Given the description of an element on the screen output the (x, y) to click on. 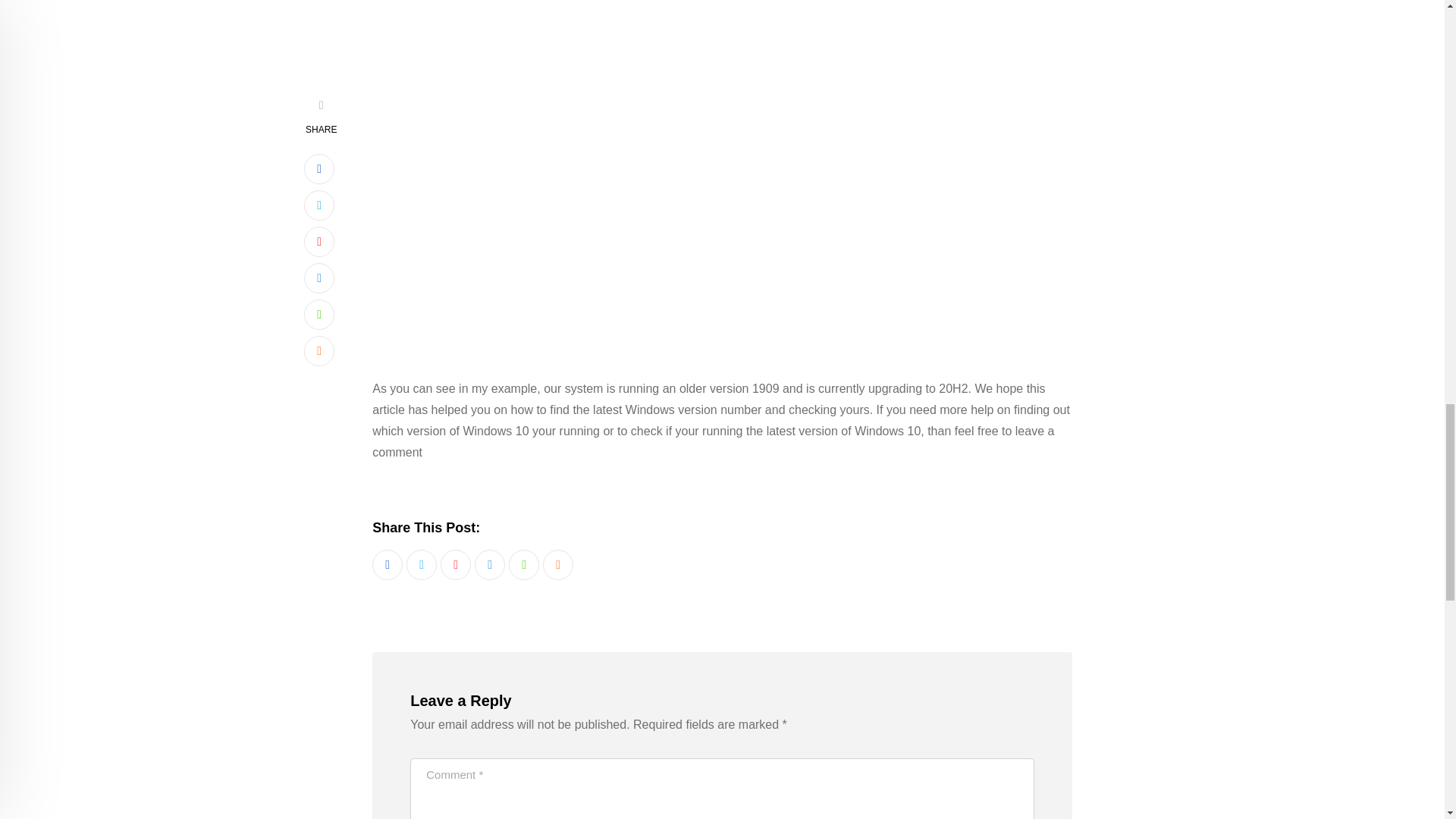
LinkedIn (489, 564)
Youtube (455, 564)
Whatsapp (523, 564)
Cloud (558, 564)
